Given the description of an element on the screen output the (x, y) to click on. 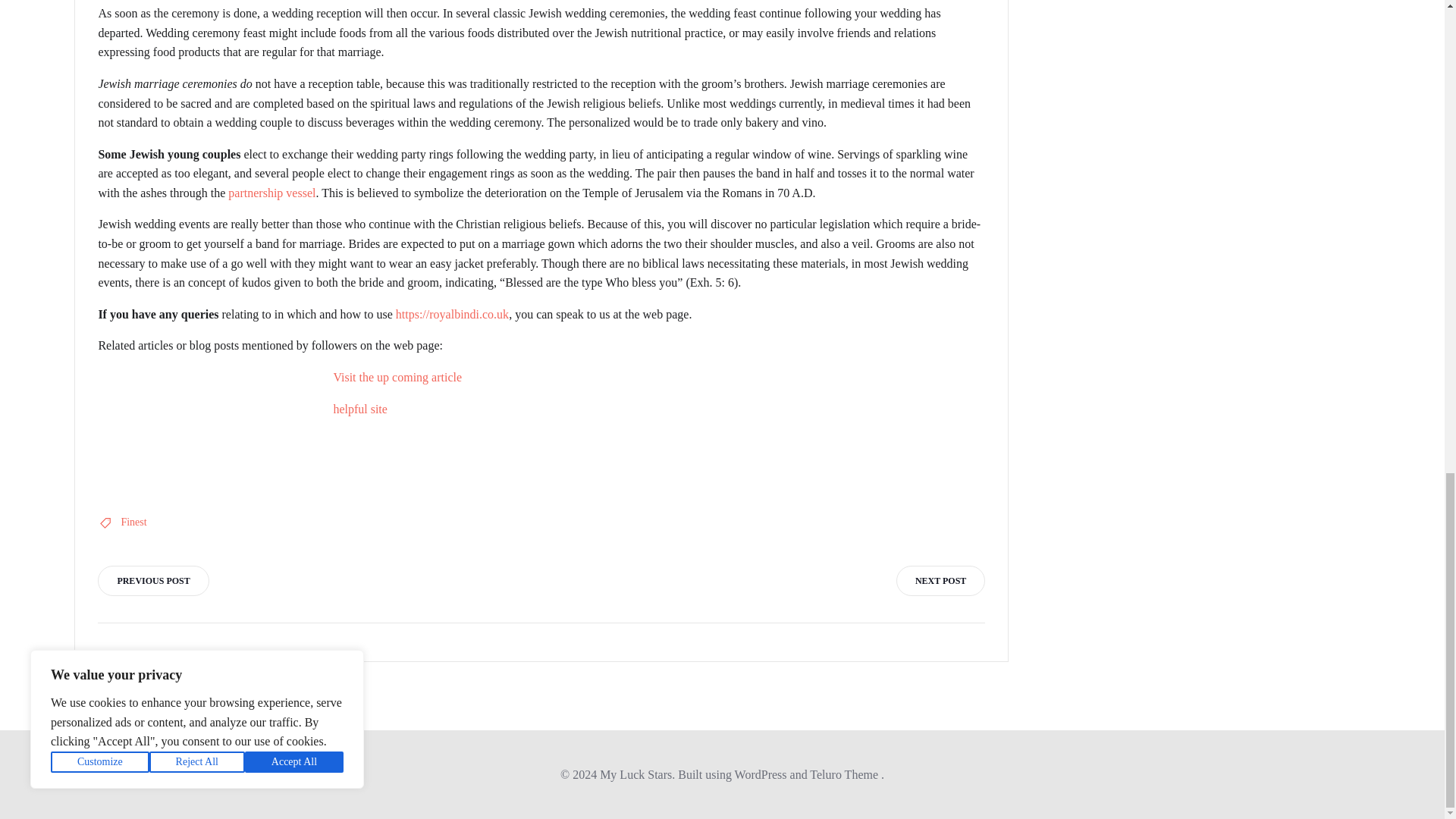
partnership vessel (271, 192)
Tag: Finest (133, 522)
Visit the up coming article (397, 377)
PREVIOUS POST (152, 580)
helpful site (360, 408)
Finest (133, 522)
NEXT POST (940, 580)
